Given the description of an element on the screen output the (x, y) to click on. 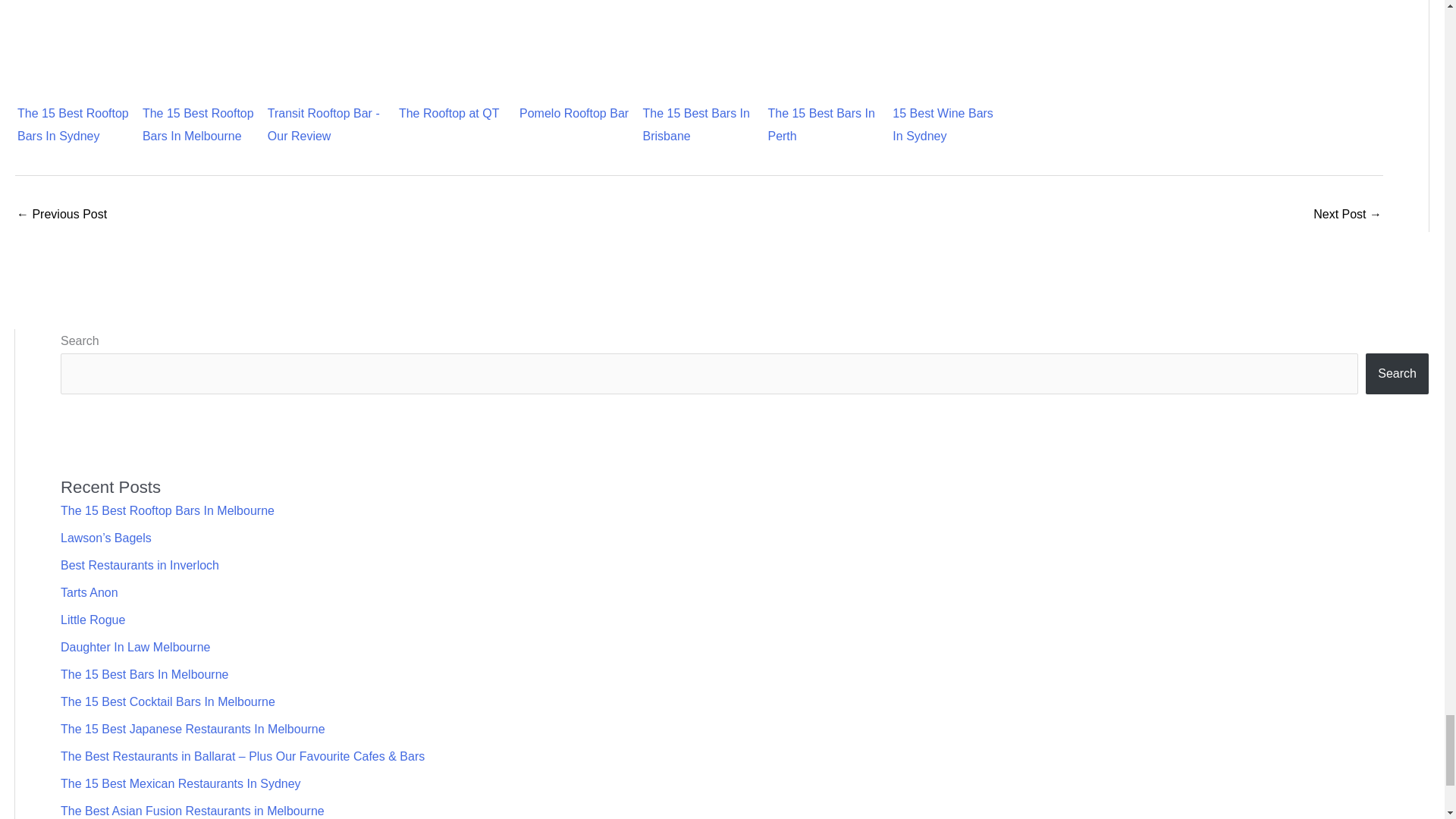
15 Best Wine Bars In Sydney (949, 50)
The Rooftop at QT (449, 50)
The 15 Best Bars In Perth (823, 31)
The 15 Best Rooftop Bars In Sydney (74, 31)
Pomelo Rooftop Bar (574, 50)
Transit Rooftop Bar - Our Review (323, 50)
The 15 Best Bars In Brisbane (699, 31)
The 15 Best Rooftop Bars In Melbourne (199, 31)
Anne's Pantry - Our Review (61, 215)
